Given the description of an element on the screen output the (x, y) to click on. 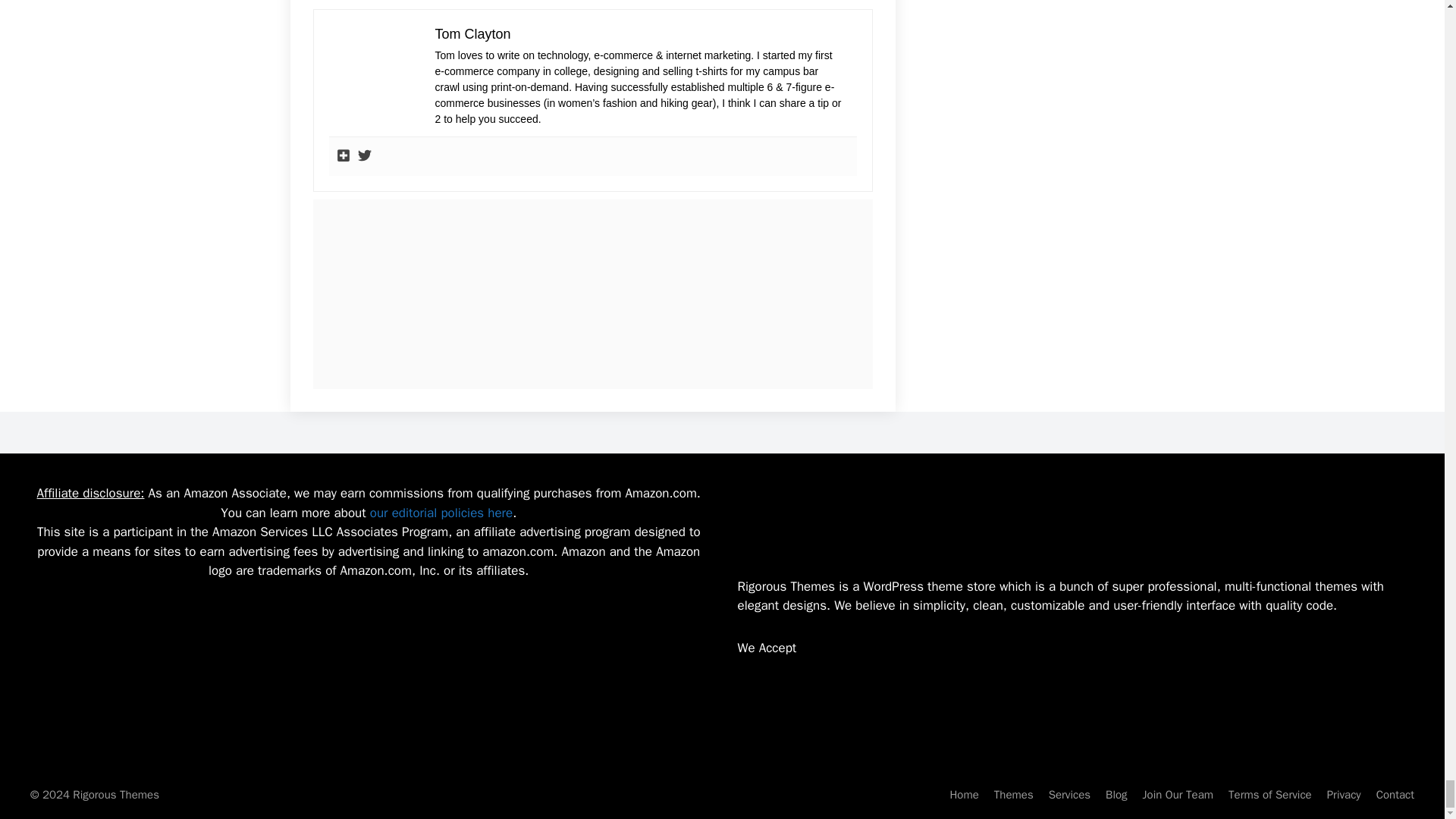
Addthis (343, 156)
Twitter (364, 156)
